Given the description of an element on the screen output the (x, y) to click on. 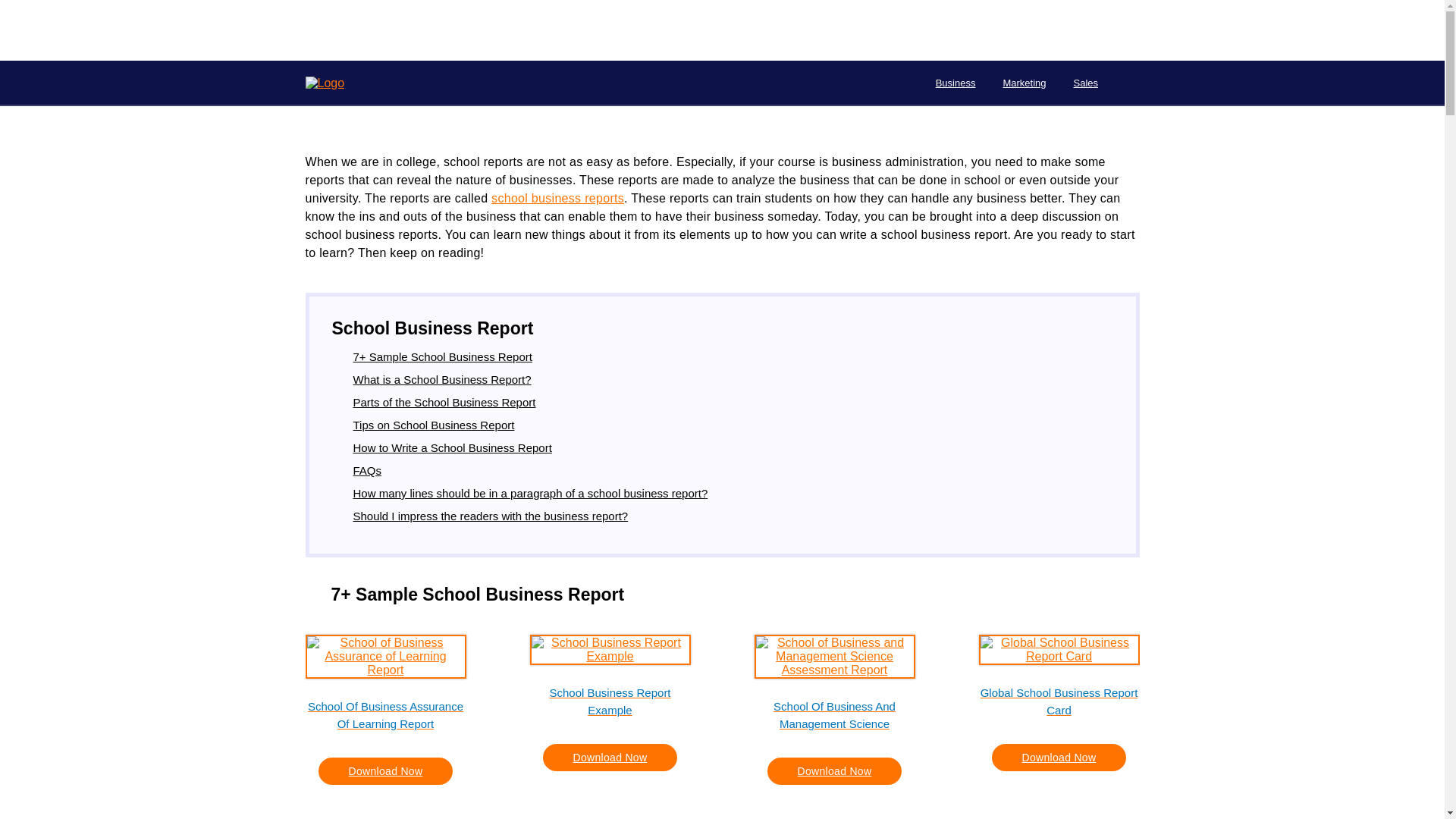
Tips on School Business Report (434, 424)
Download Now (834, 770)
FAQs (367, 470)
Download Now (1058, 757)
Download Now (610, 757)
Business (955, 83)
How to Write a School Business Report (452, 447)
Global School Business Report Card (1058, 700)
school business reports (558, 197)
School Of Business Assurance Of Learning Report (384, 714)
Sales (1085, 83)
Marketing (1023, 83)
Parts of the School Business Report (444, 402)
What is a School Business Report? (442, 379)
